Given the description of an element on the screen output the (x, y) to click on. 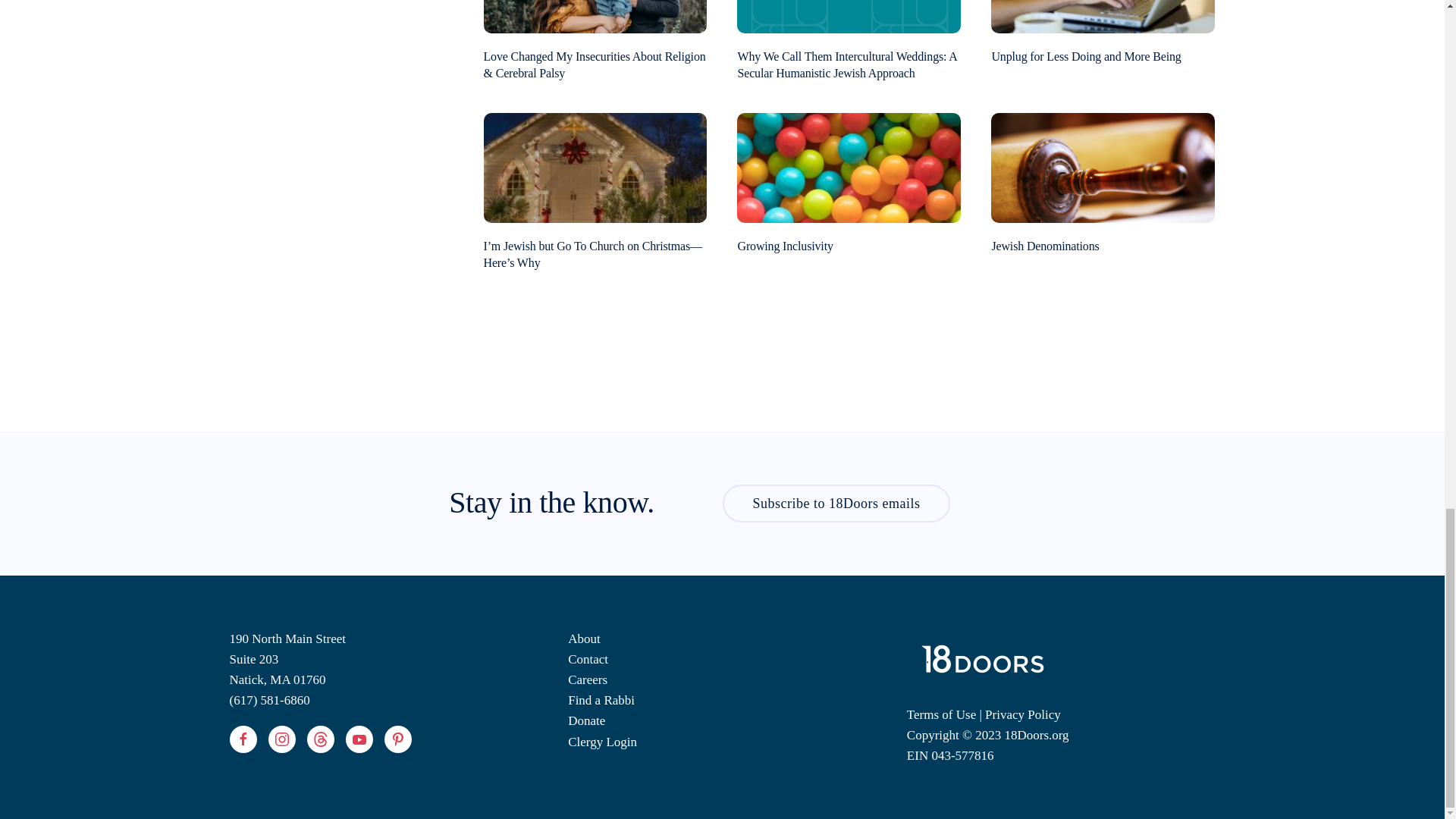
Jewish Denominations (1045, 245)
Jewish Denominations (1102, 165)
Growing Inclusivity (784, 245)
Growing Inclusivity (848, 165)
Unplug for Less Doing and More Being (1085, 56)
